Given the description of an element on the screen output the (x, y) to click on. 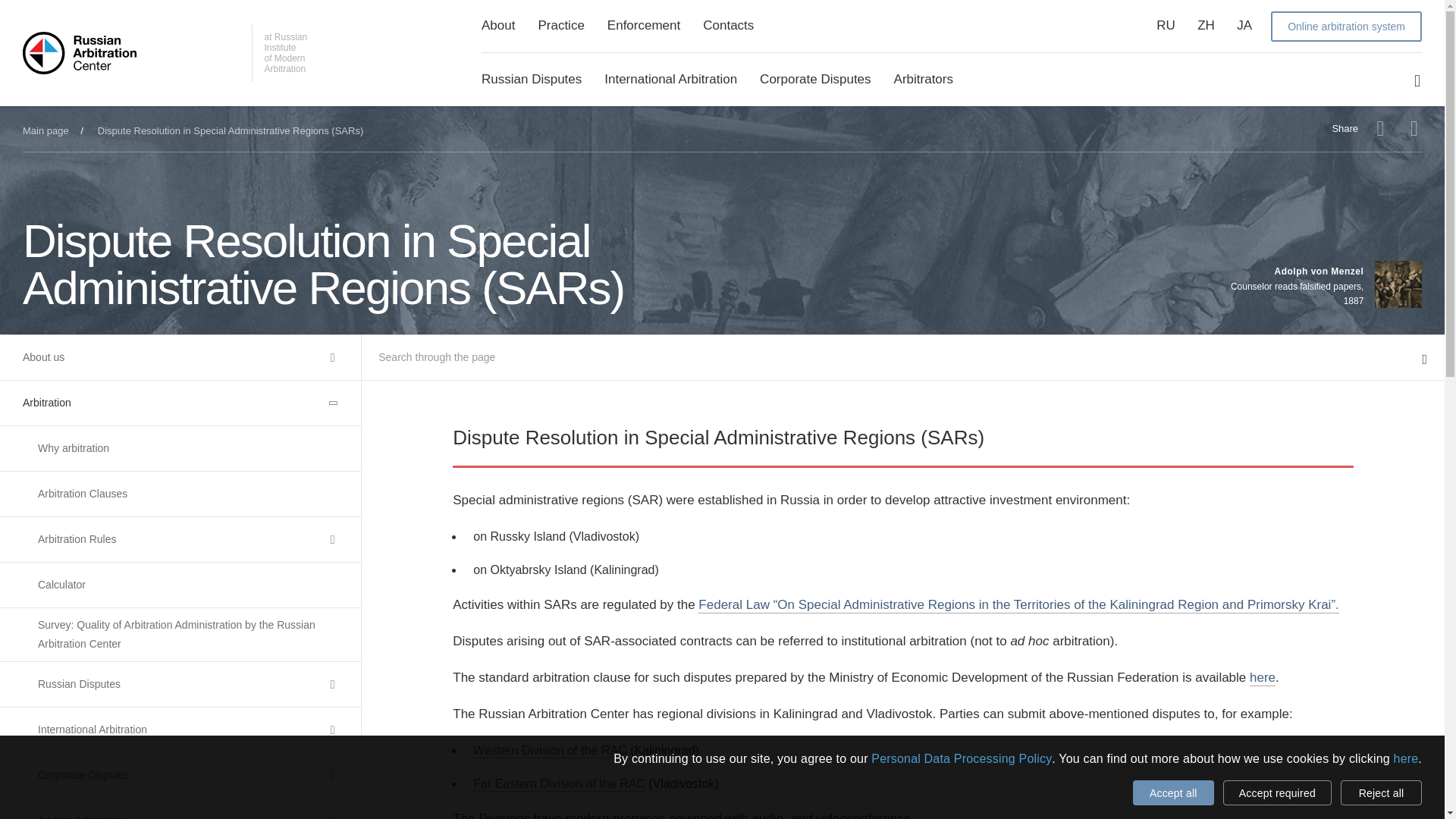
Enforcement (643, 25)
RU (1165, 25)
Practice (560, 25)
About (498, 25)
Corporate Disputes (815, 79)
Online arbitration system (1346, 25)
Russian Disputes (530, 79)
ZH (1205, 25)
Arbitrators (923, 79)
JA (1244, 25)
Contacts (728, 25)
International Arbitration (670, 79)
